Given the description of an element on the screen output the (x, y) to click on. 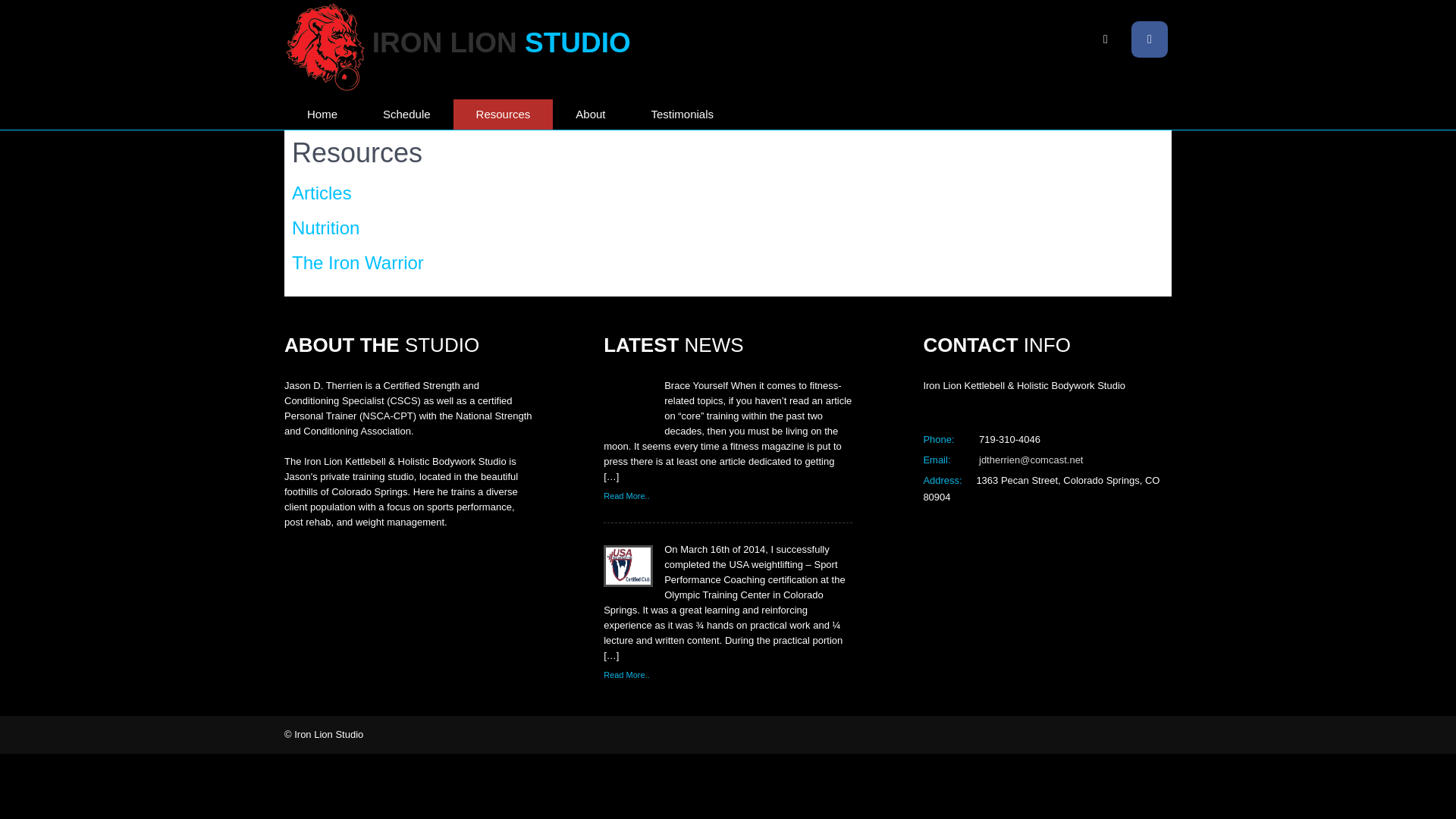
facebook (1149, 39)
Instagram (1105, 39)
Resources (502, 114)
Read More.. (626, 495)
Home (321, 114)
About (590, 114)
Read More.. (626, 674)
The Iron Warrior (357, 262)
Testimonials (681, 114)
instagram (1105, 39)
Facebook (1149, 39)
IRON LION STUDIO (501, 42)
Articles (322, 192)
Nutrition (325, 227)
Schedule (405, 114)
